Given the description of an element on the screen output the (x, y) to click on. 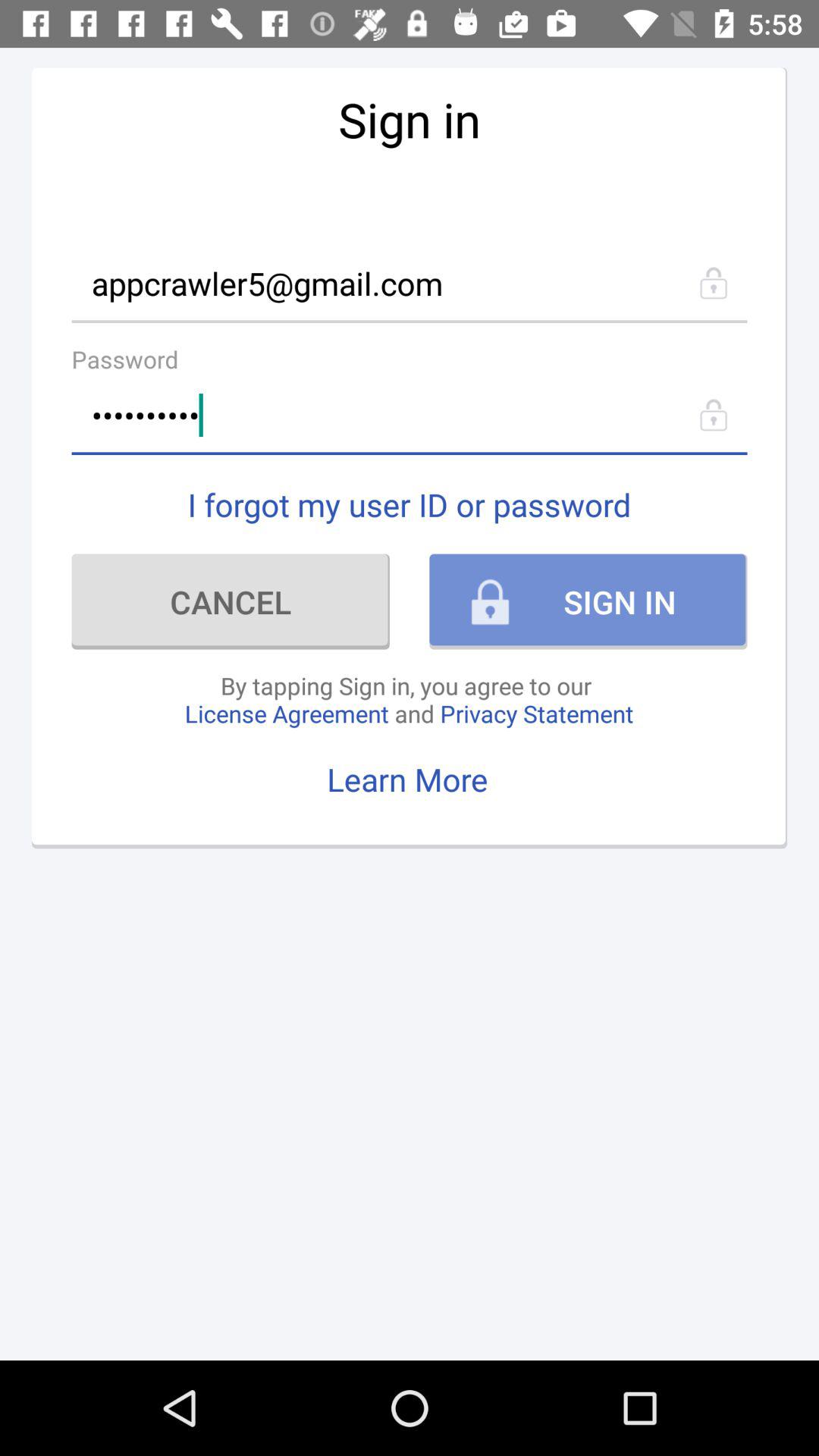
tap item above by tapping sign (230, 601)
